Given the description of an element on the screen output the (x, y) to click on. 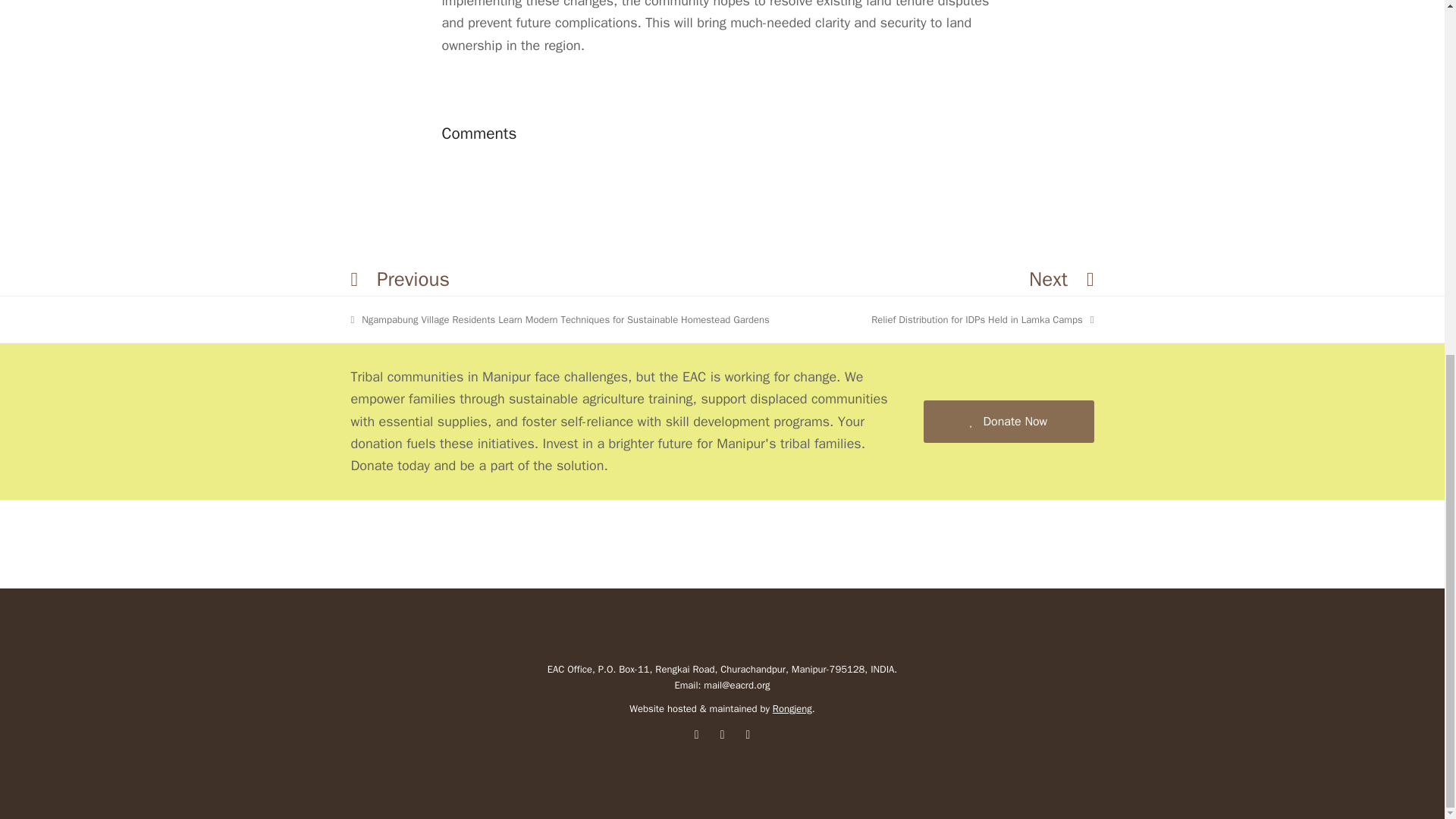
YouTube (981, 319)
Previous (747, 734)
Facebook (399, 279)
Rongjeng (696, 734)
Instagram (792, 707)
Next (722, 734)
Facebook (1061, 279)
Donate Now (696, 734)
YouTube (1008, 421)
Instagram (747, 734)
